Given the description of an element on the screen output the (x, y) to click on. 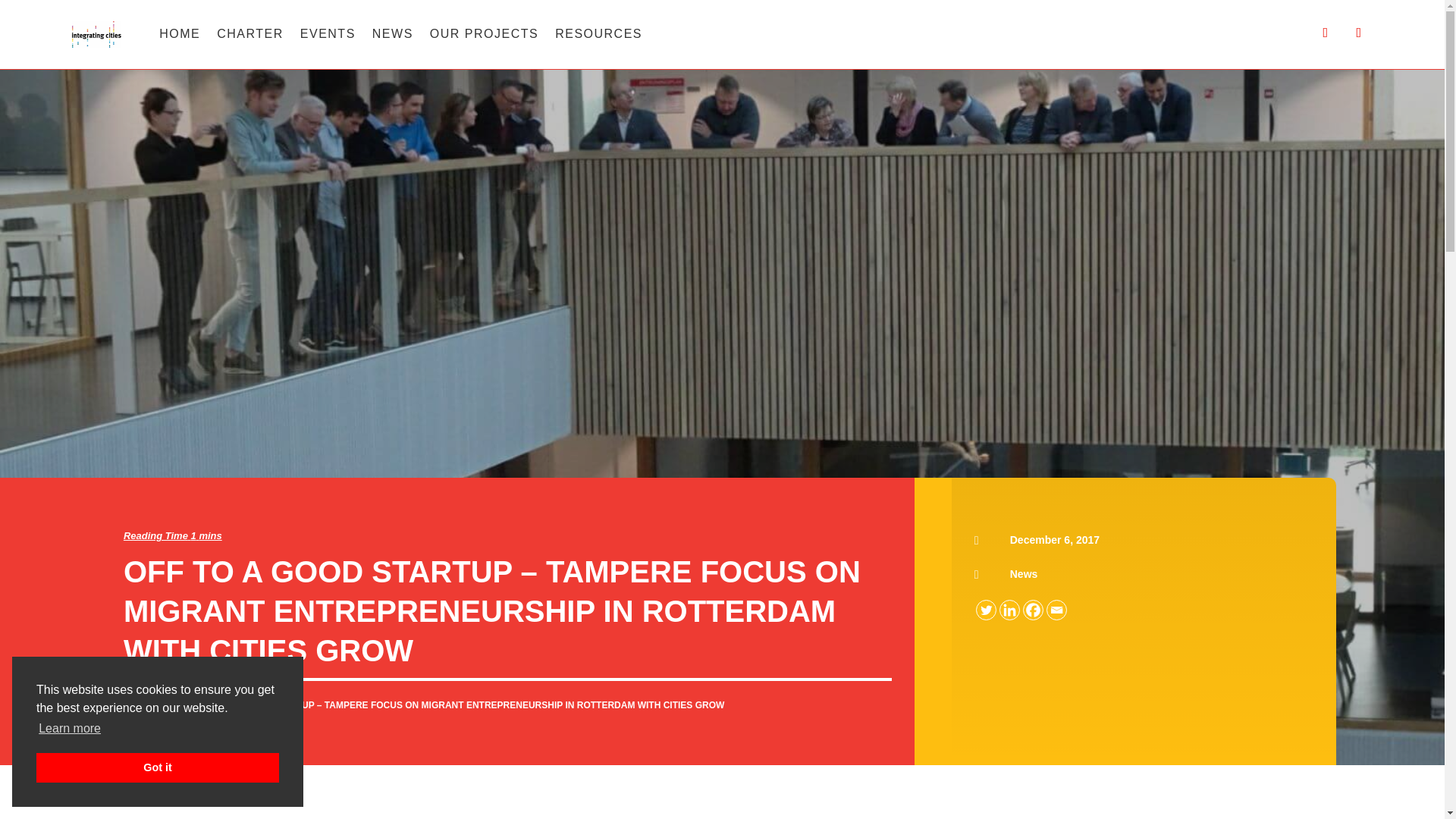
RESOURCES (598, 24)
Home (141, 705)
EVENTS (327, 24)
OUR PROJECTS (483, 24)
CHARTER (249, 24)
Twitter (985, 609)
Follow on X (1325, 31)
Facebook (1033, 609)
NEWS (392, 24)
News (1024, 573)
